Given the description of an element on the screen output the (x, y) to click on. 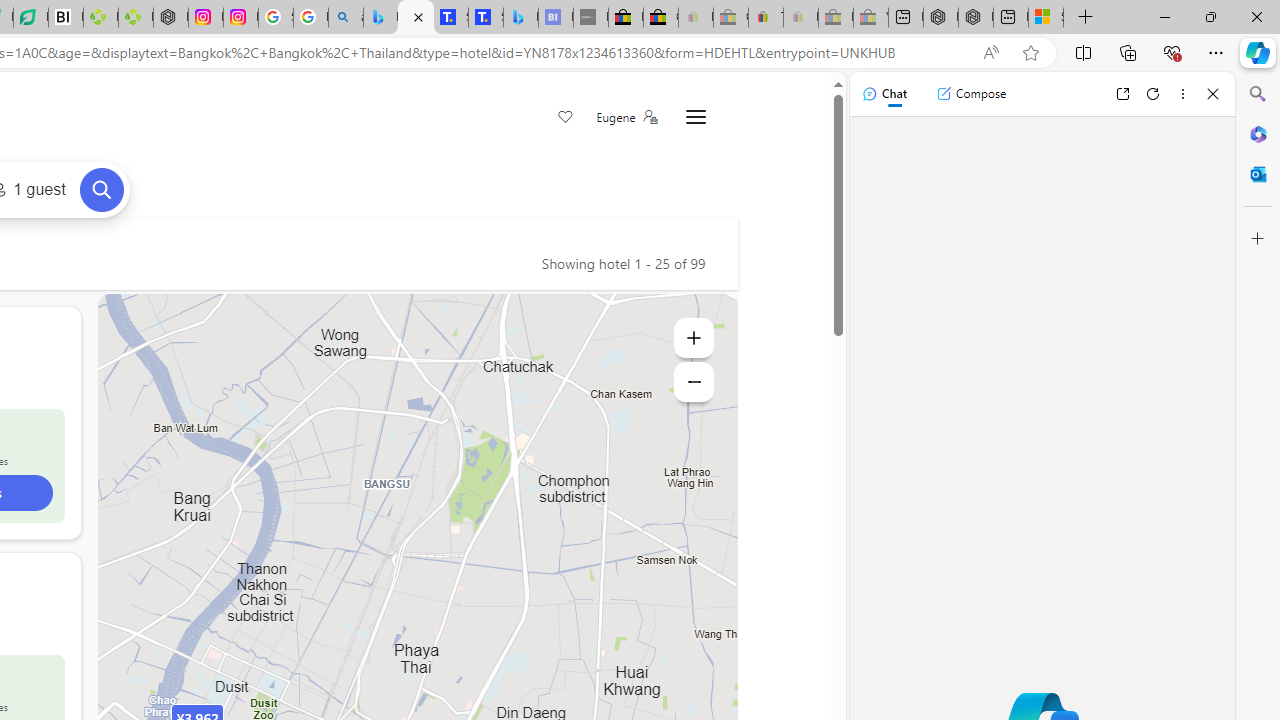
Zoom out (693, 381)
Eugene (626, 117)
Zoom in (693, 337)
alabama high school quarterback dies - Search (346, 17)
Compose (971, 93)
Shangri-La Bangkok, Hotel reviews and Room rates (485, 17)
Sign in to your Microsoft account (1046, 17)
Safety in Our Products - Google Safety Center (275, 17)
